Given the description of an element on the screen output the (x, y) to click on. 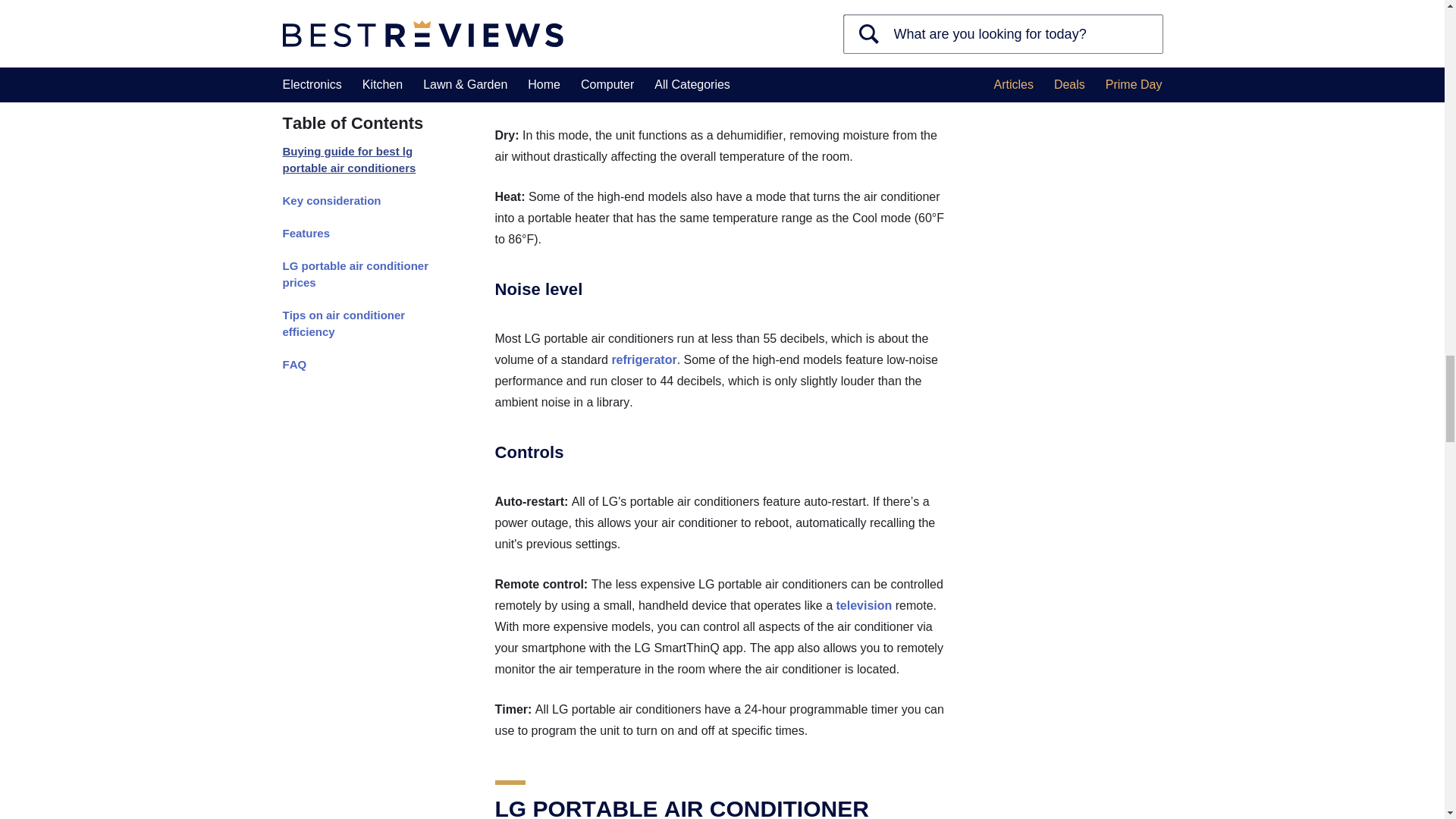
fan (846, 73)
